Given the description of an element on the screen output the (x, y) to click on. 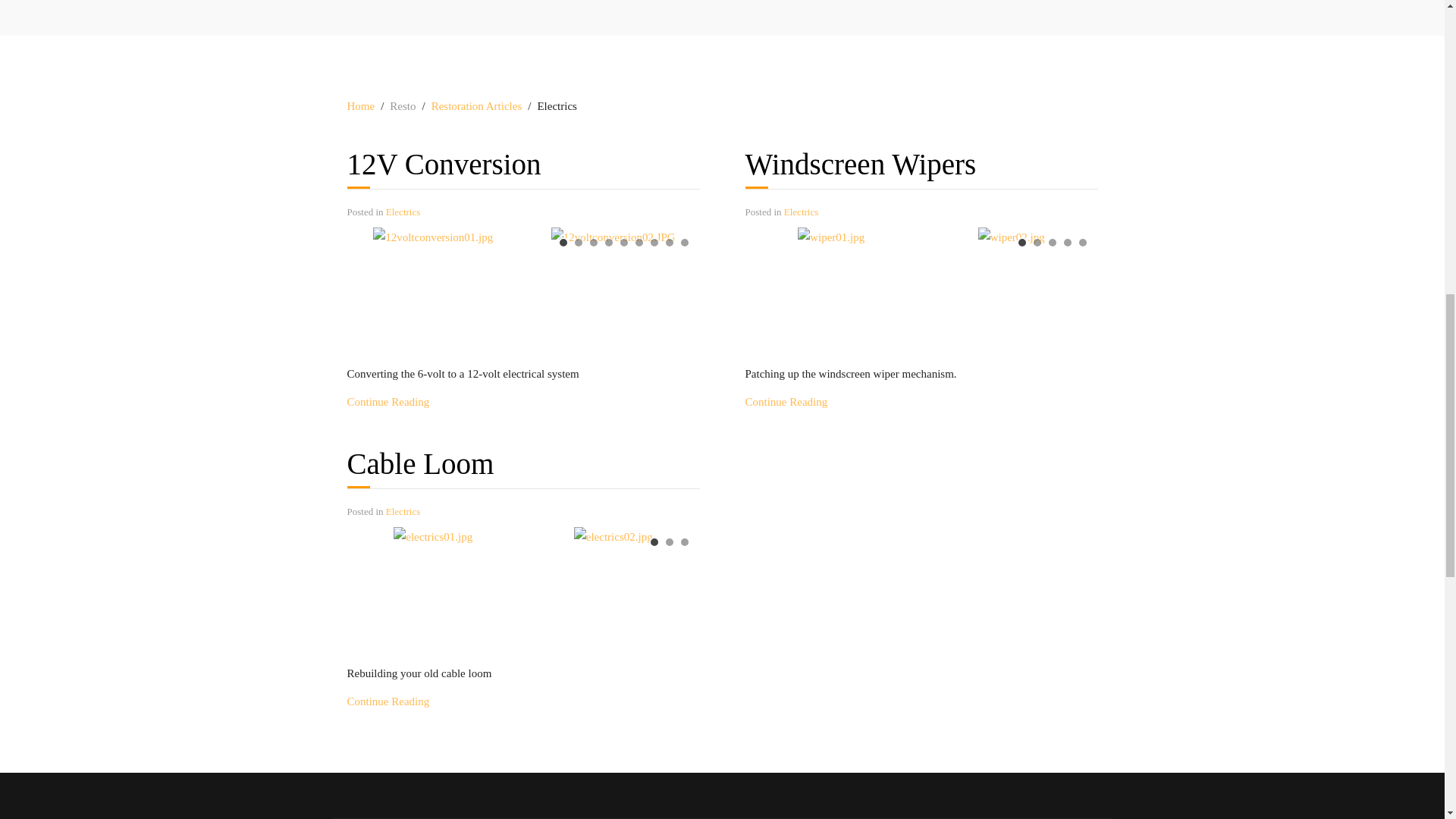
Cable Loom (421, 463)
12V Conversion (444, 164)
Windscreen Wipers (785, 401)
Electrics (402, 211)
Cable Loom (388, 701)
Continue Reading (388, 401)
12V Conversion (388, 401)
Home (361, 106)
Windscreen Wipers (859, 164)
Restoration Articles (476, 106)
Electrics (402, 511)
12V Conversion (444, 164)
Cable Loom (421, 463)
